Given the description of an element on the screen output the (x, y) to click on. 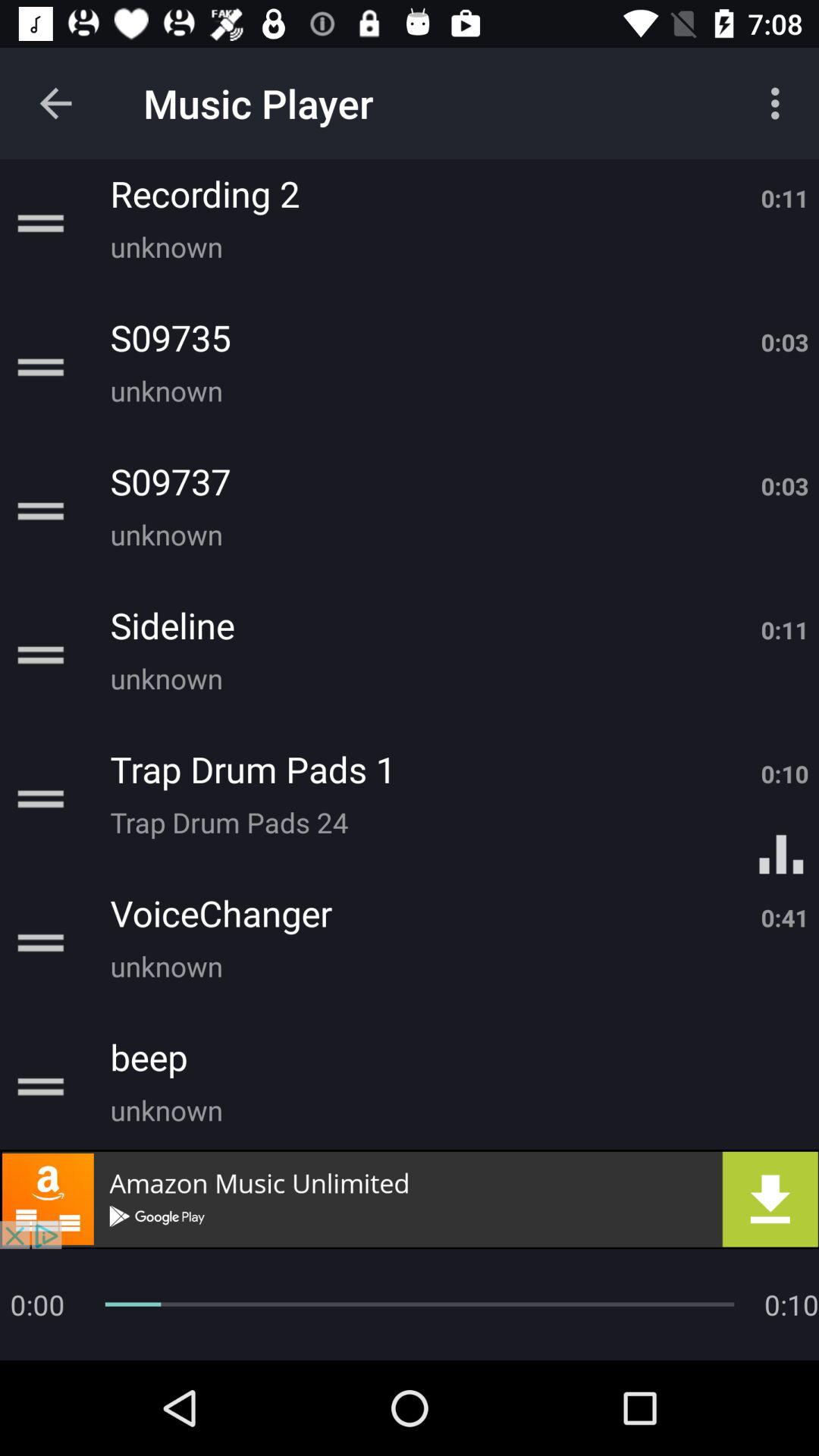
advertisement (409, 1198)
